Given the description of an element on the screen output the (x, y) to click on. 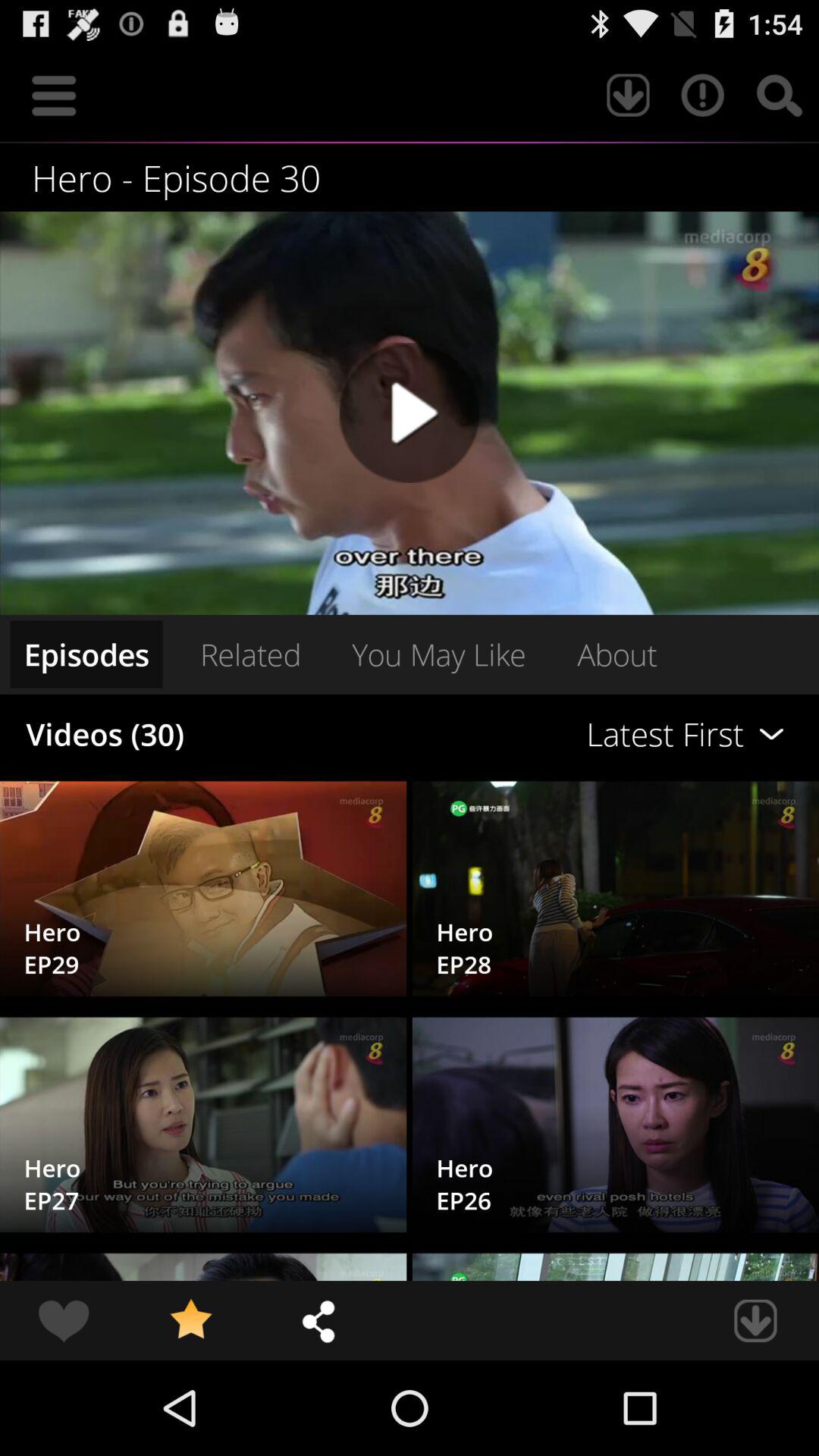
tap icon above the hero - episode 30 icon (53, 95)
